Given the description of an element on the screen output the (x, y) to click on. 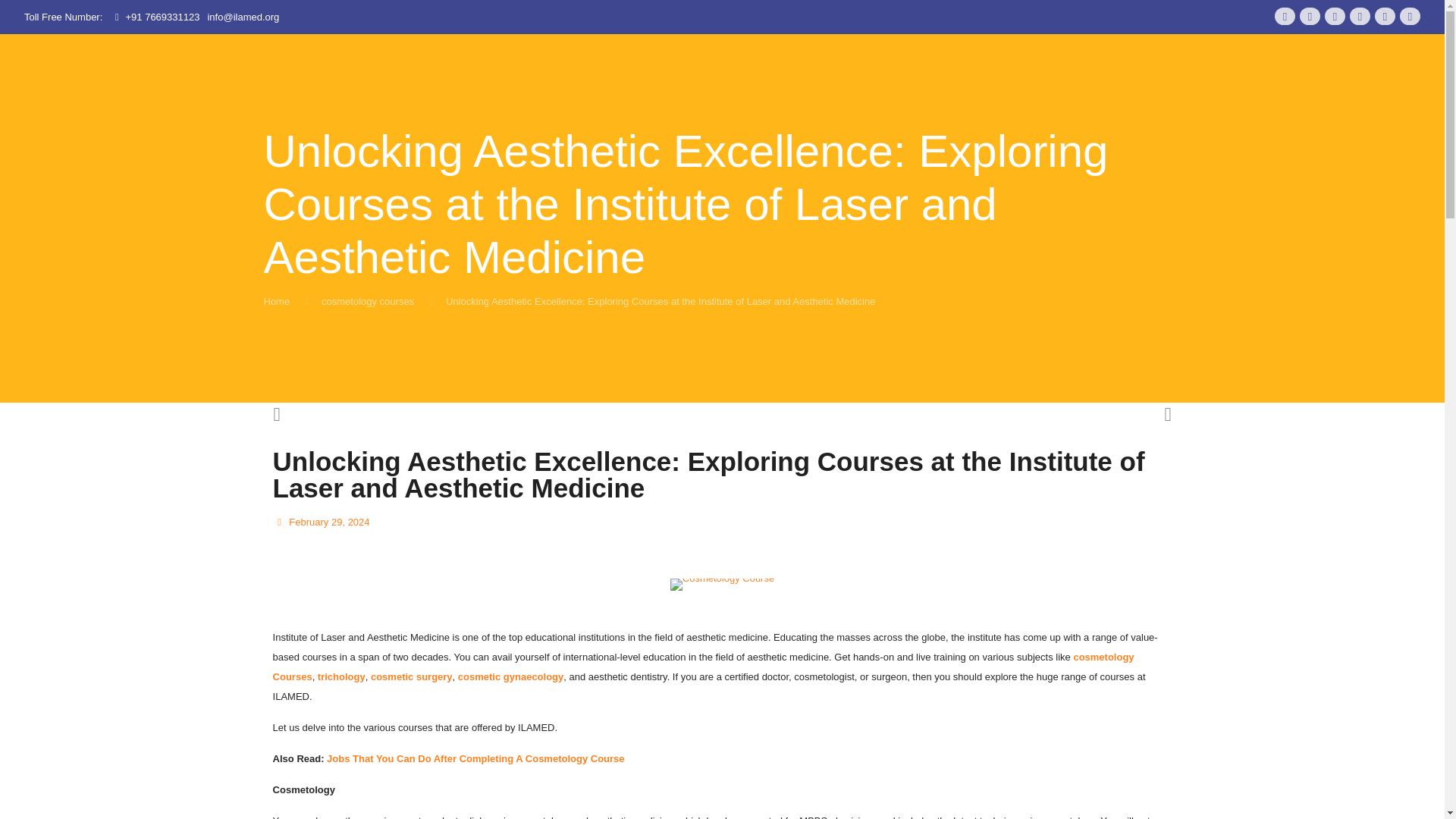
Pinterest (1384, 16)
Twitter (1310, 16)
Facebook (1285, 16)
Instagram (1410, 16)
LinkedIn (1359, 16)
YouTube (1334, 16)
